Given the description of an element on the screen output the (x, y) to click on. 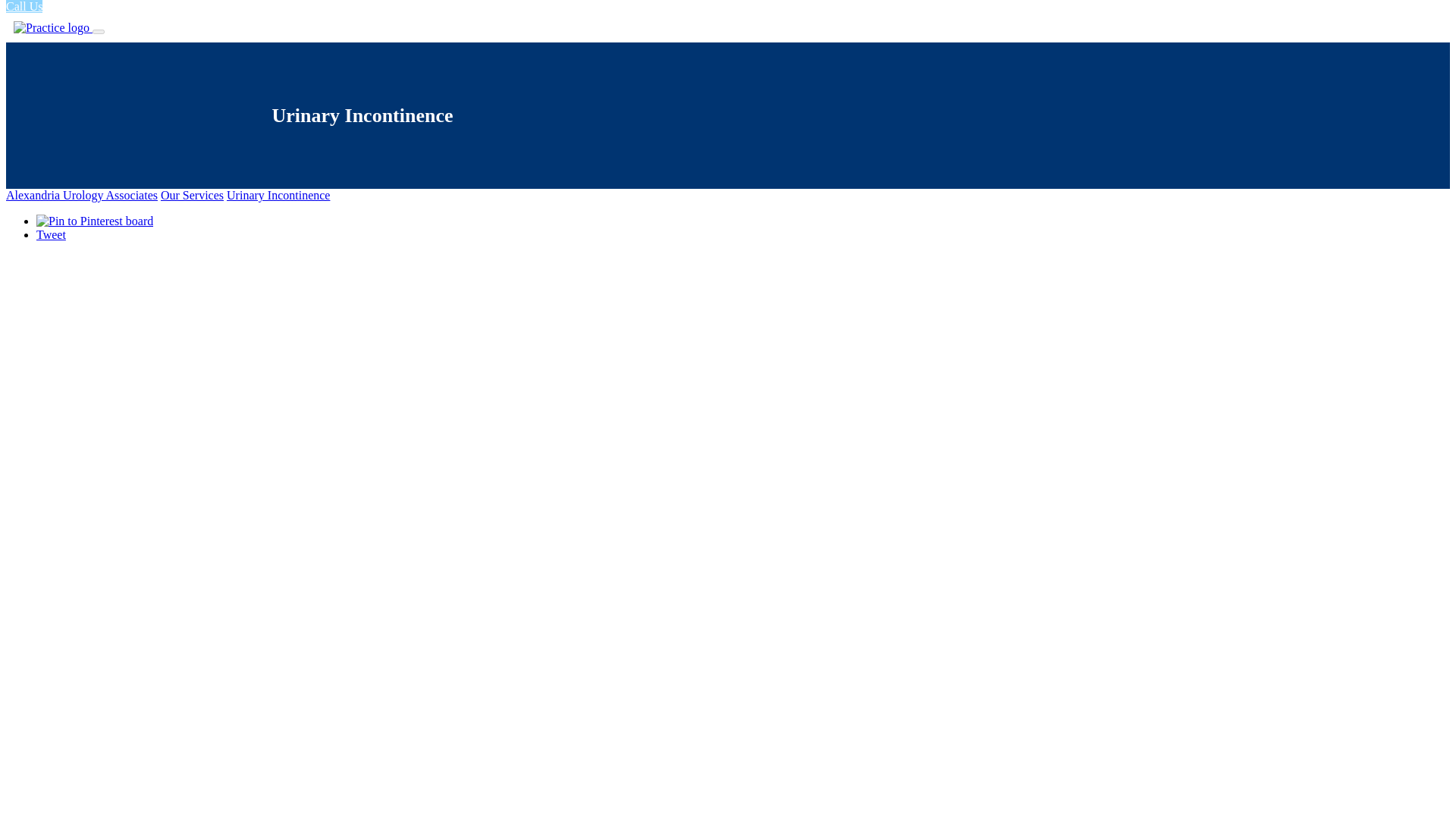
Call Us (23, 6)
Tweet (50, 234)
Alexandria Urology Associates (81, 195)
Urinary Incontinence (278, 195)
Our Services (192, 195)
